Given the description of an element on the screen output the (x, y) to click on. 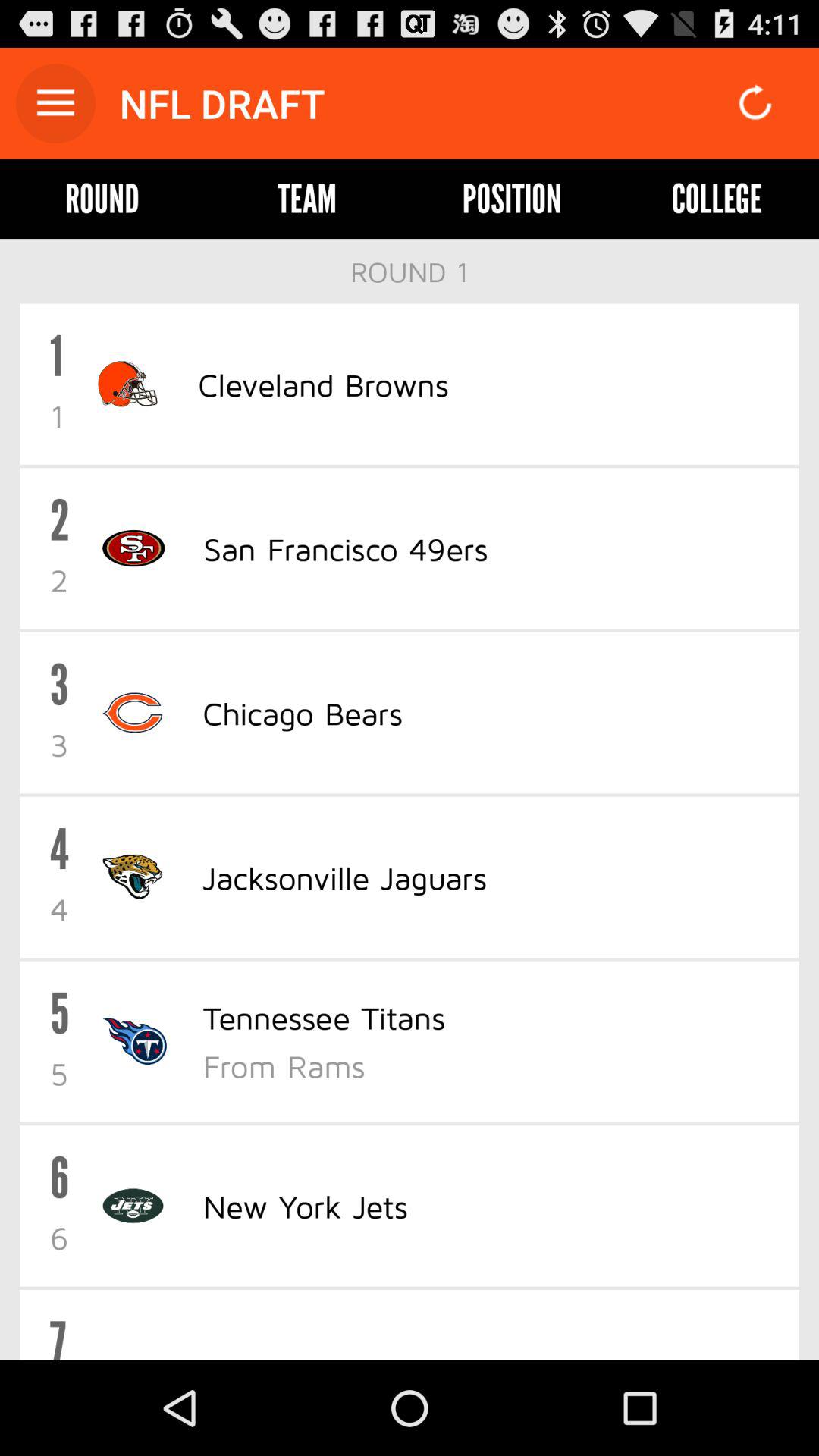
launch the item next to nfl draft app (55, 103)
